Given the description of an element on the screen output the (x, y) to click on. 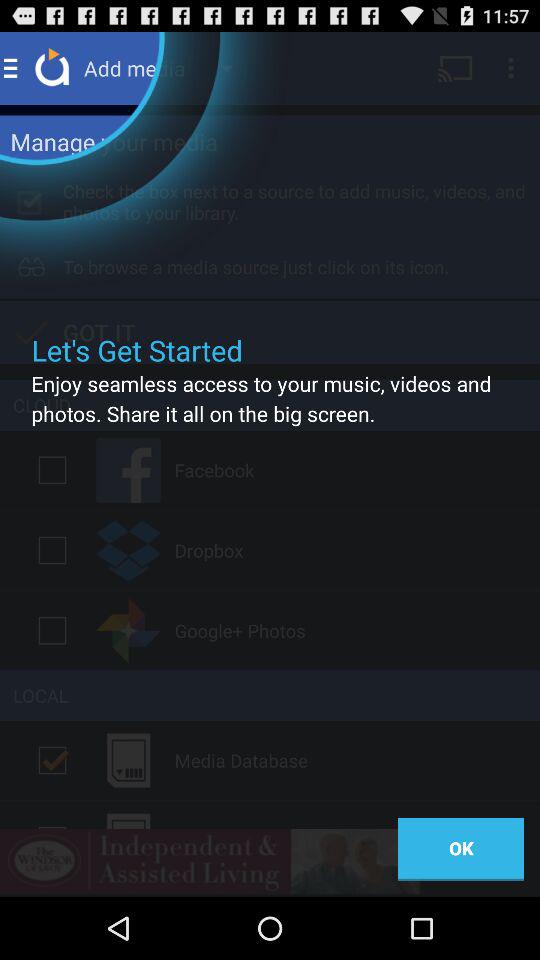
connect to app (52, 630)
